Given the description of an element on the screen output the (x, y) to click on. 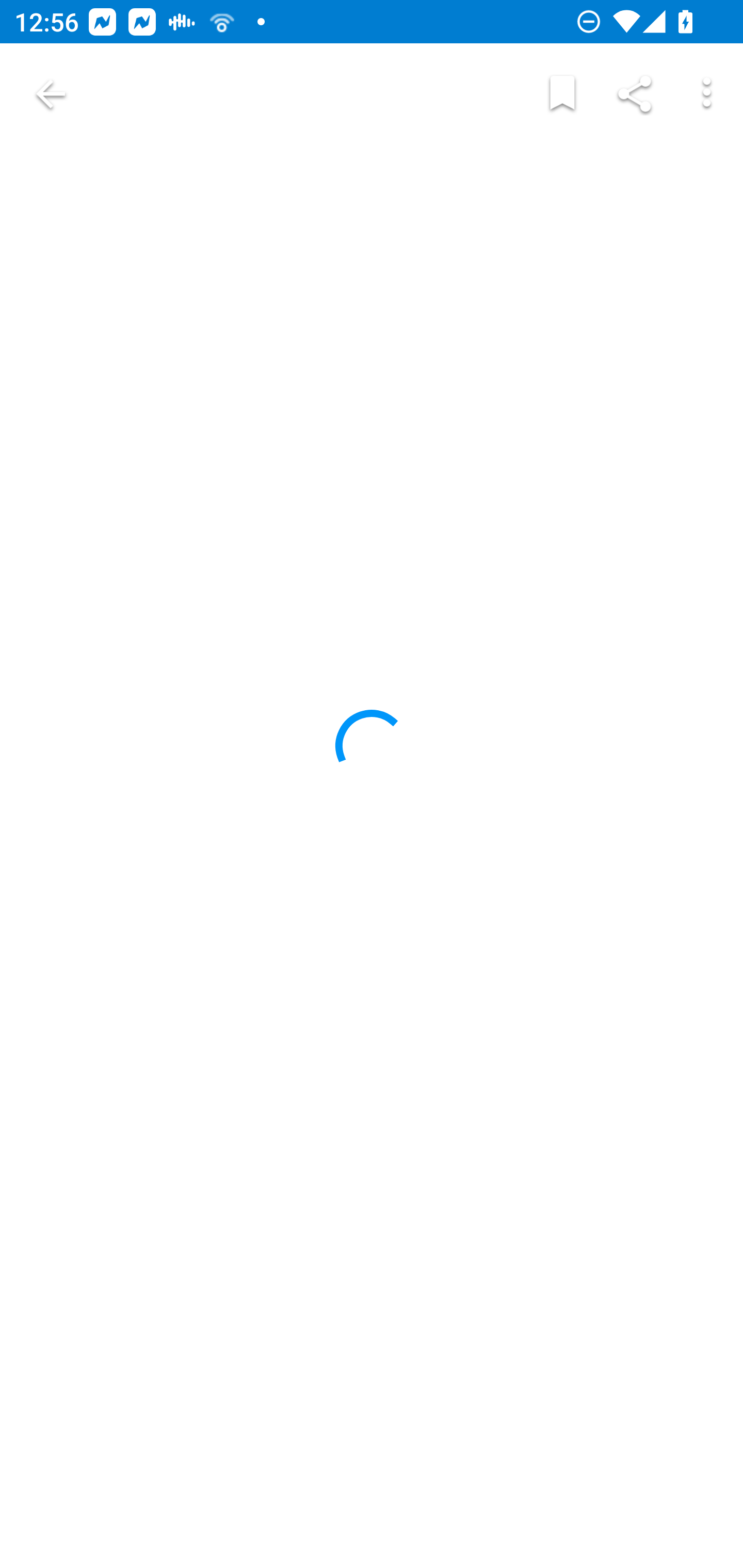
Navigate up (50, 93)
Markers (562, 93)
Share (634, 93)
More options (706, 93)
